Given the description of an element on the screen output the (x, y) to click on. 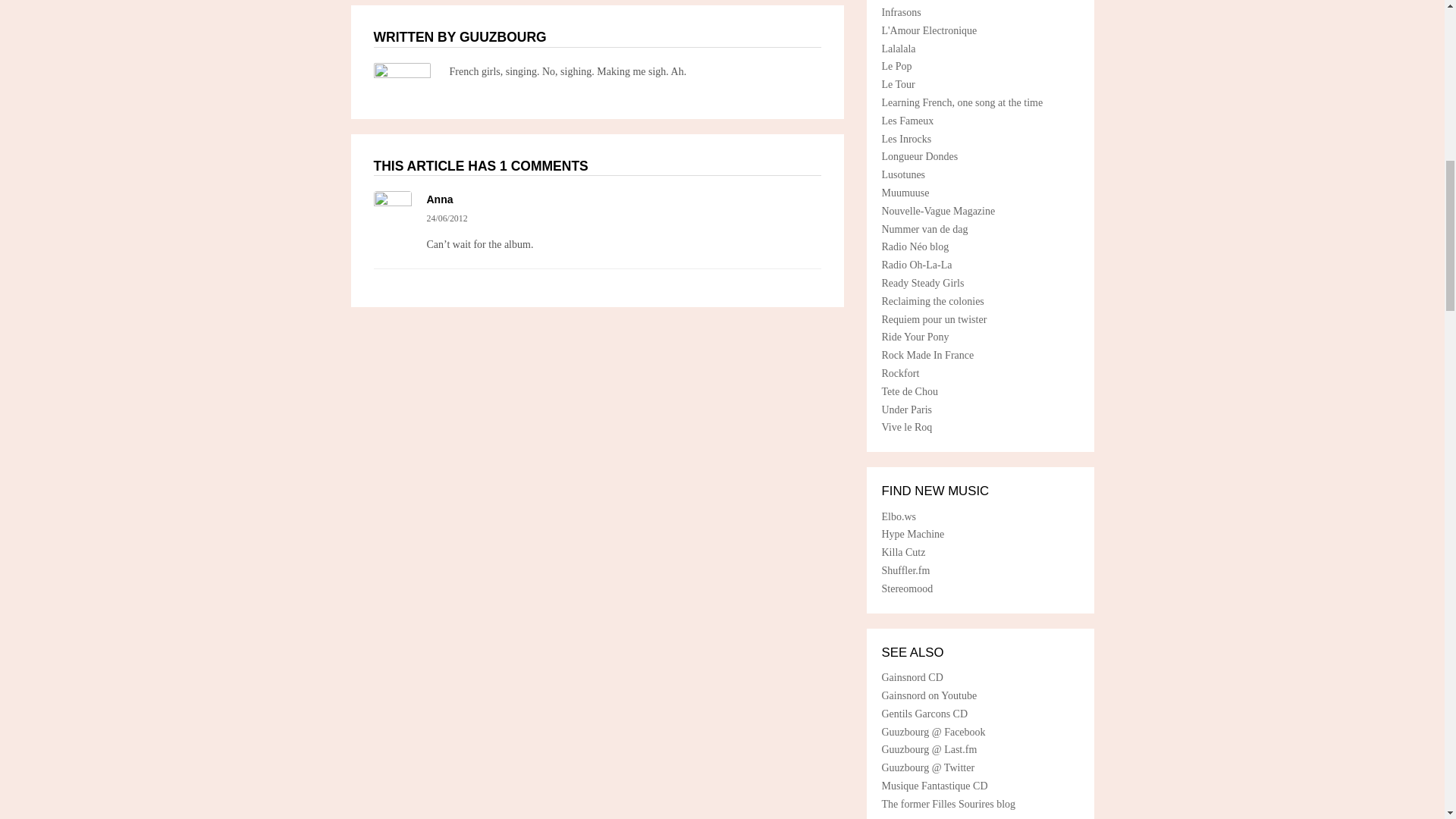
Online record store in Amsterdam, sells Gainsnord-7inches (902, 552)
Music in Portugueuse, great blog (902, 174)
Best Serge Gainsbourg site in the world (908, 391)
